Given the description of an element on the screen output the (x, y) to click on. 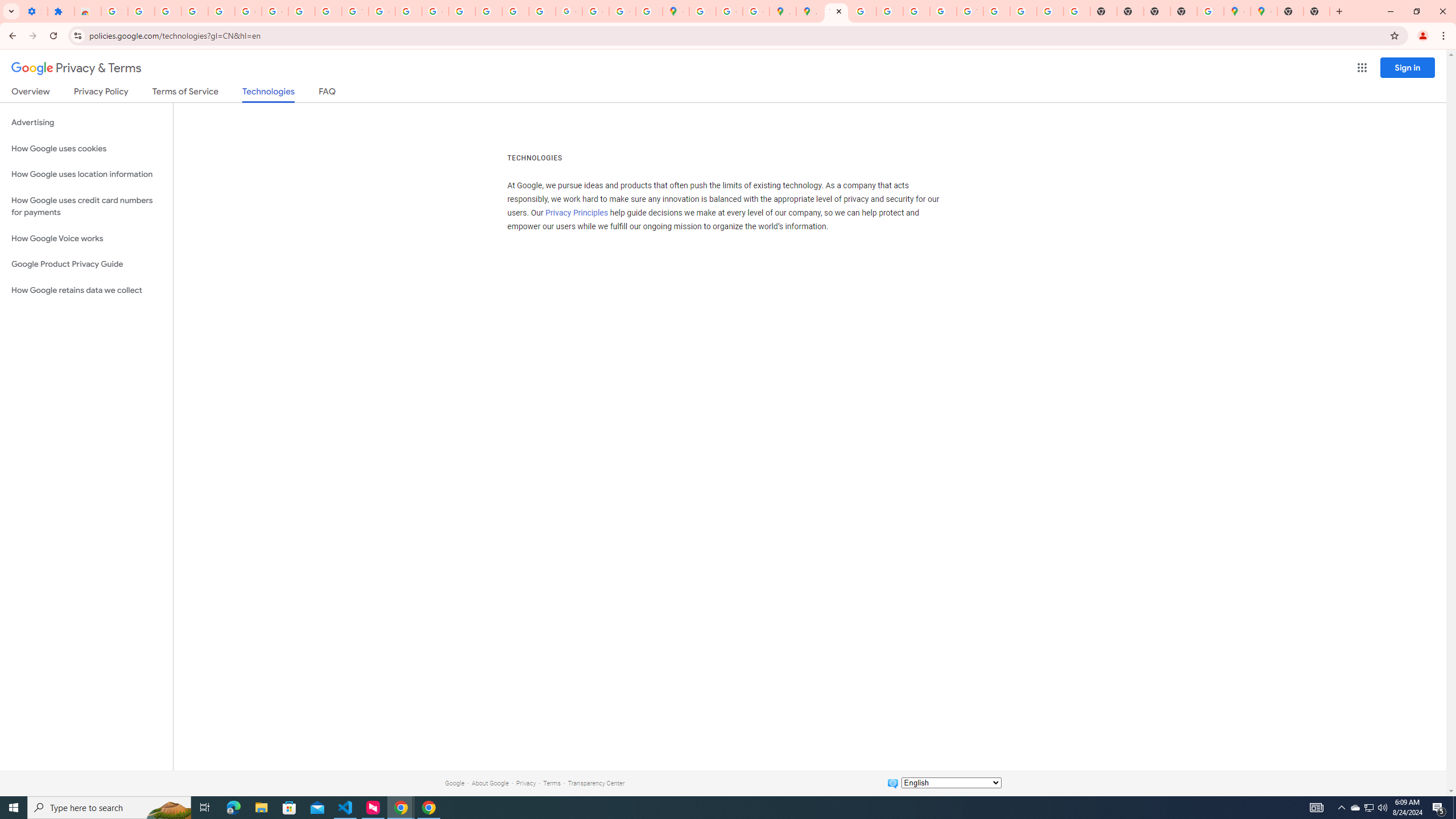
Google Maps (1263, 11)
Reload (52, 35)
Privacy Help Center - Policies Help (462, 11)
Use Google Maps in Space - Google Maps Help (1210, 11)
Restore (1416, 11)
Search tabs (10, 11)
Extensions (61, 11)
Privacy Help Center - Policies Help (862, 11)
Reviews: Helix Fruit Jump Arcade Game (87, 11)
https://scholar.google.com/ (408, 11)
How Google uses credit card numbers for payments (86, 206)
